Given the description of an element on the screen output the (x, y) to click on. 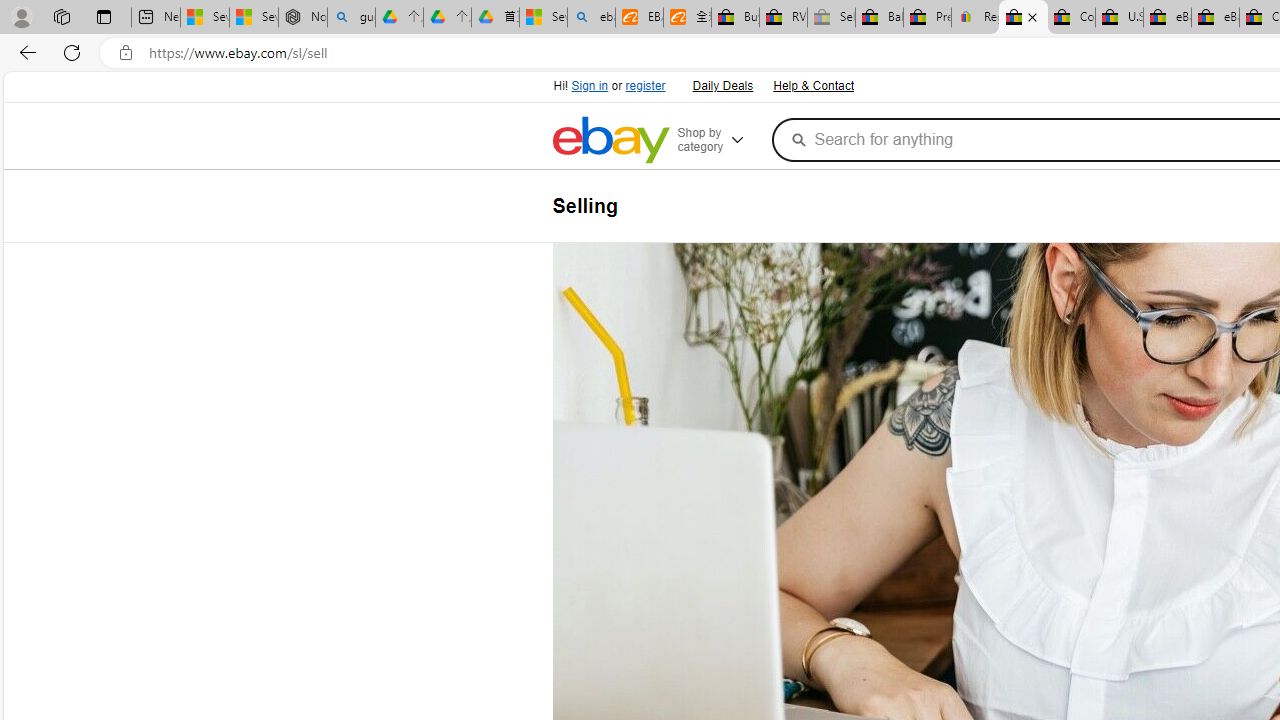
Shop by category (720, 140)
eBay Inc. Reports Third Quarter 2023 Results (1215, 17)
Help & Contact (811, 84)
Selling on eBay | Electronics, Fashion, Home & Garden | eBay (1023, 17)
Consumer Health Data Privacy Policy - eBay Inc. (1071, 17)
Daily Deals (721, 84)
Register: Create a personal eBay account (975, 17)
